Given the description of an element on the screen output the (x, y) to click on. 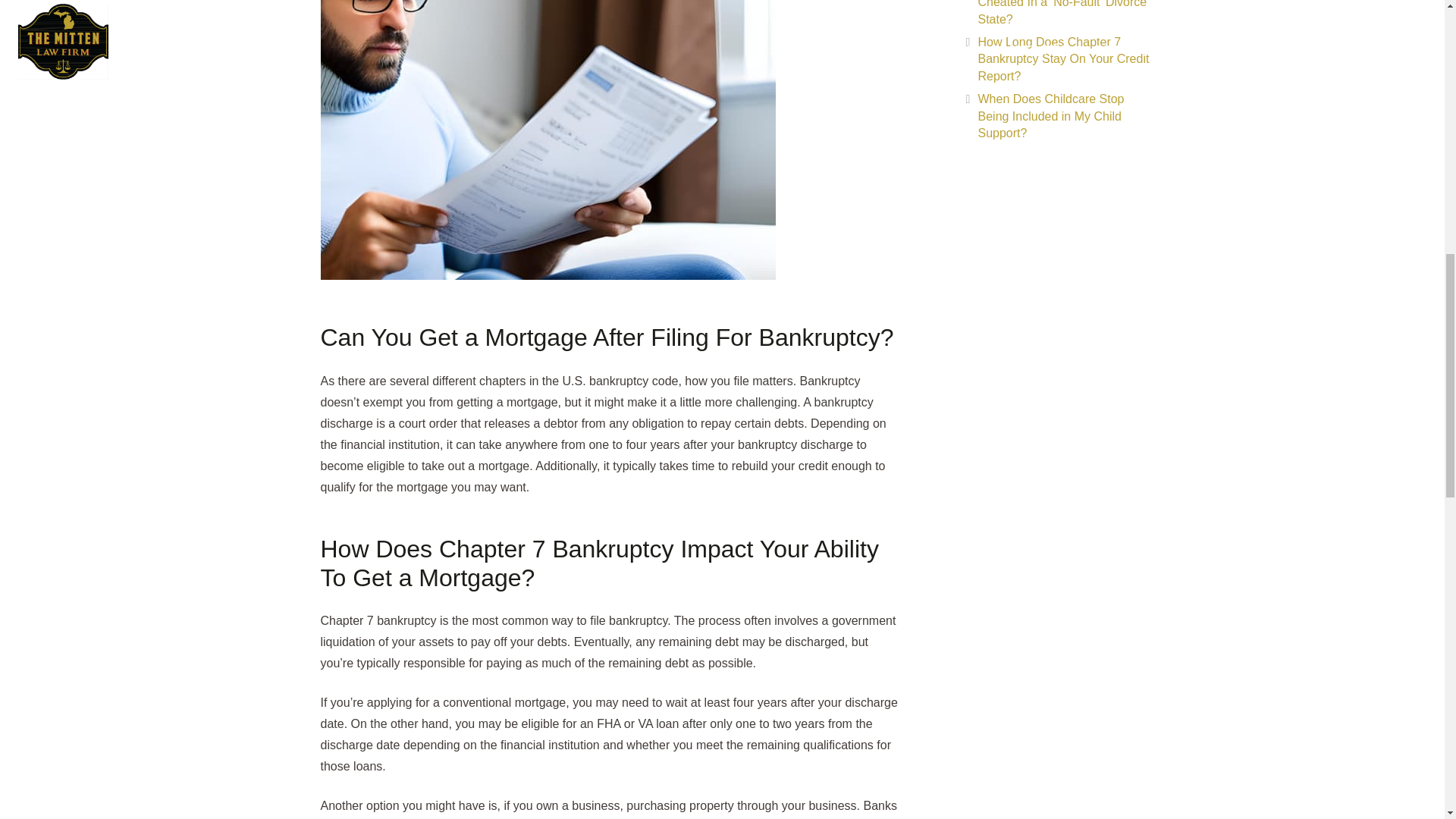
When Does Childcare Stop Being Included in My Child Support? (1051, 115)
Back to top (1413, 30)
